Given the description of an element on the screen output the (x, y) to click on. 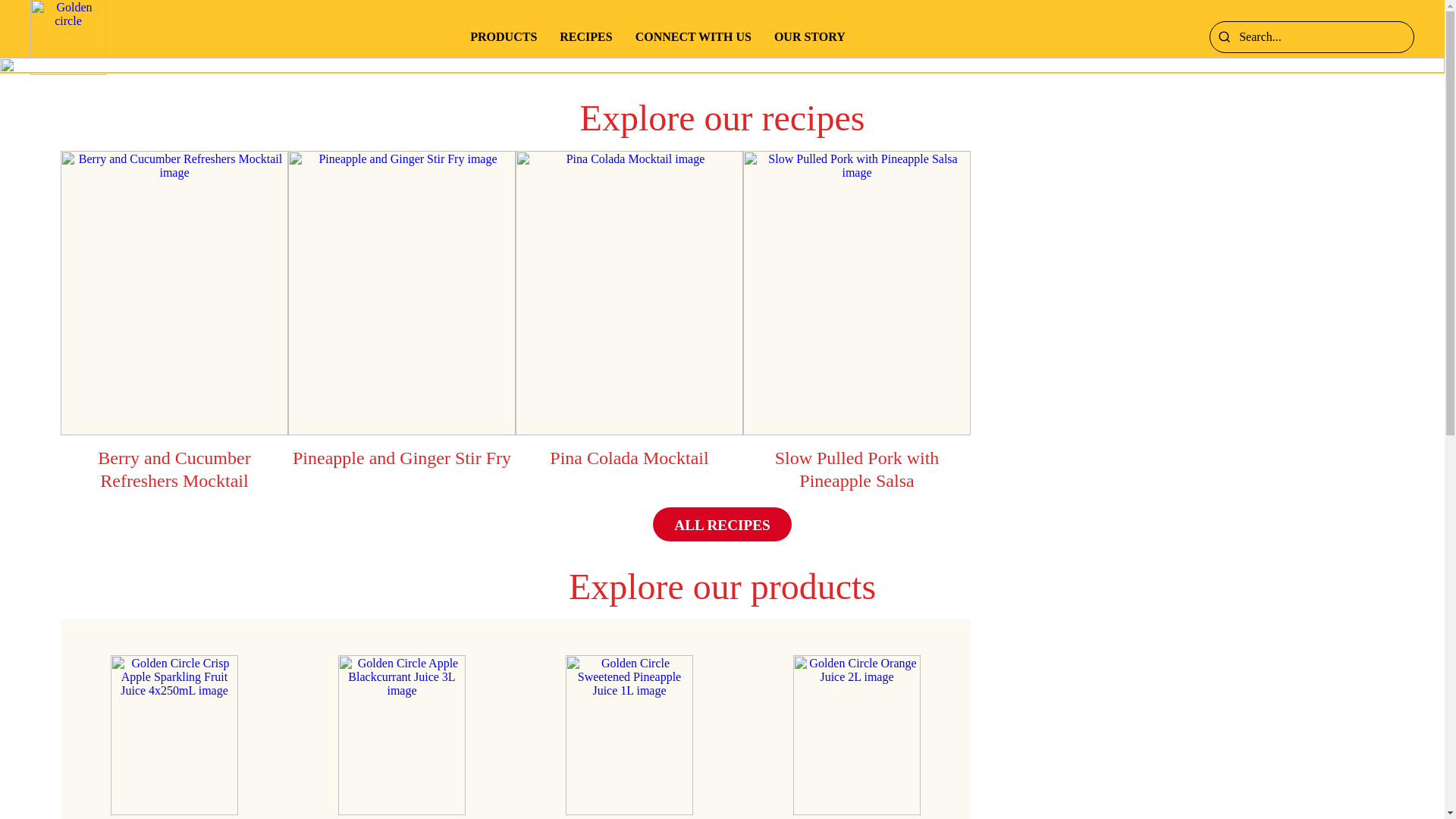
CONNECT WITH US Element type: text (693, 36)
OUR STORY Element type: text (809, 36)
ALL RECIPES Element type: text (721, 524)
Pina Colada Mocktail Element type: hover (629, 292)
Slow Pulled Pork with Pineapple Salsa Element type: hover (856, 292)
Pineapple and Ginger Stir Fry Element type: text (401, 317)
Home page banner Element type: hover (722, 64)
Pineapple and Ginger Stir Fry Element type: hover (401, 292)
PRODUCTS Element type: text (503, 36)
Slow Pulled Pork with Pineapple Salsa Element type: text (856, 328)
RECIPES Element type: text (585, 36)
Berry and Cucumber Refreshers Mocktail Element type: hover (174, 292)
Berry and Cucumber Refreshers Mocktail Element type: text (174, 328)
Pina Colada Mocktail Element type: text (629, 317)
